Given the description of an element on the screen output the (x, y) to click on. 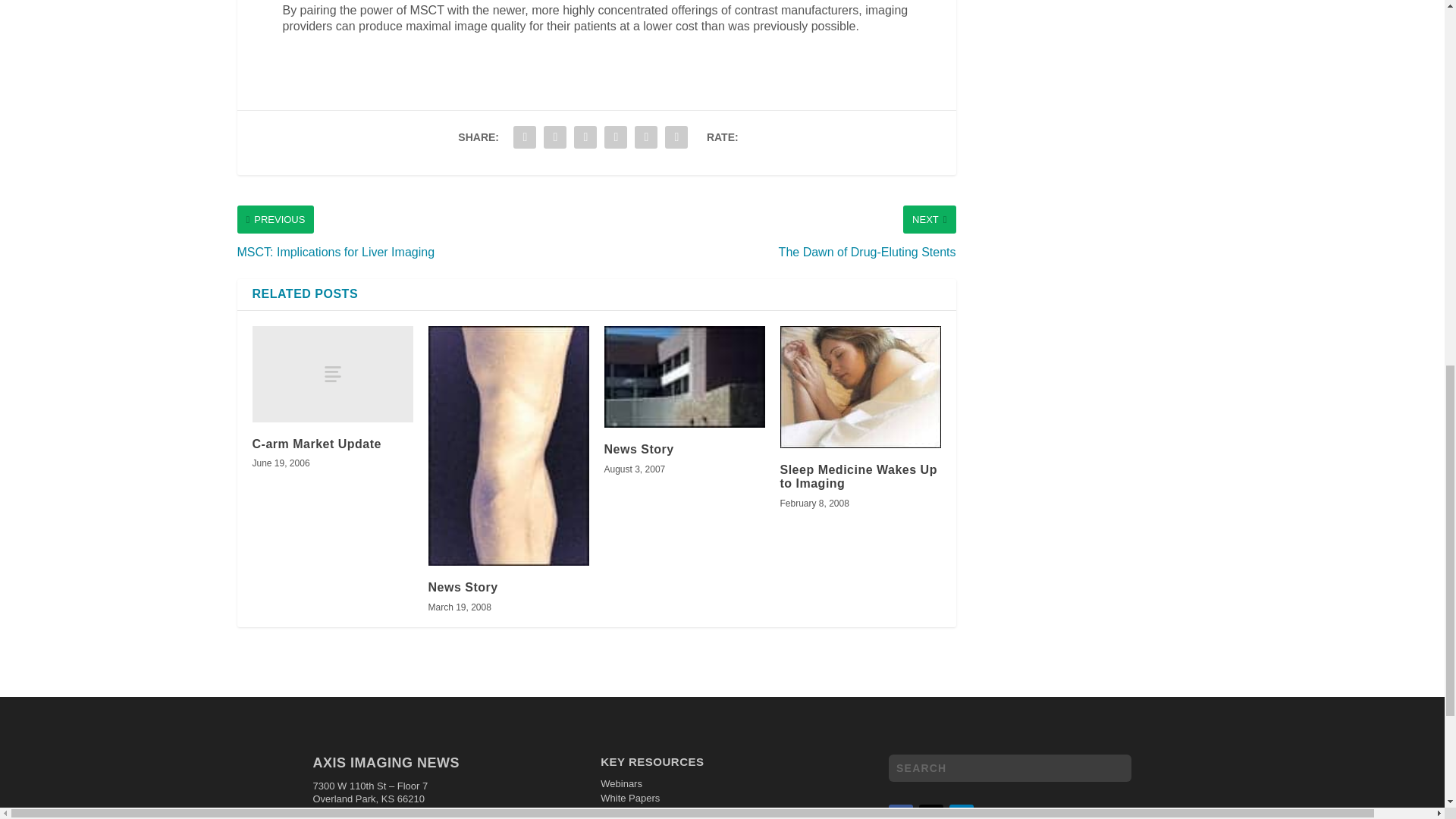
Share "Effective Use of Contrast with MSCT" via Print (676, 137)
News Story (684, 376)
Share "Effective Use of Contrast with MSCT" via Email (645, 137)
Share "Effective Use of Contrast with MSCT" via LinkedIn (584, 137)
Share "Effective Use of Contrast with MSCT" via Twitter (555, 137)
Share "Effective Use of Contrast with MSCT" via Facebook (524, 137)
Sleep Medicine Wakes Up to Imaging (859, 386)
C-arm Market Update (331, 373)
C-arm Market Update (315, 443)
Follow on Facebook (900, 811)
